Given the description of an element on the screen output the (x, y) to click on. 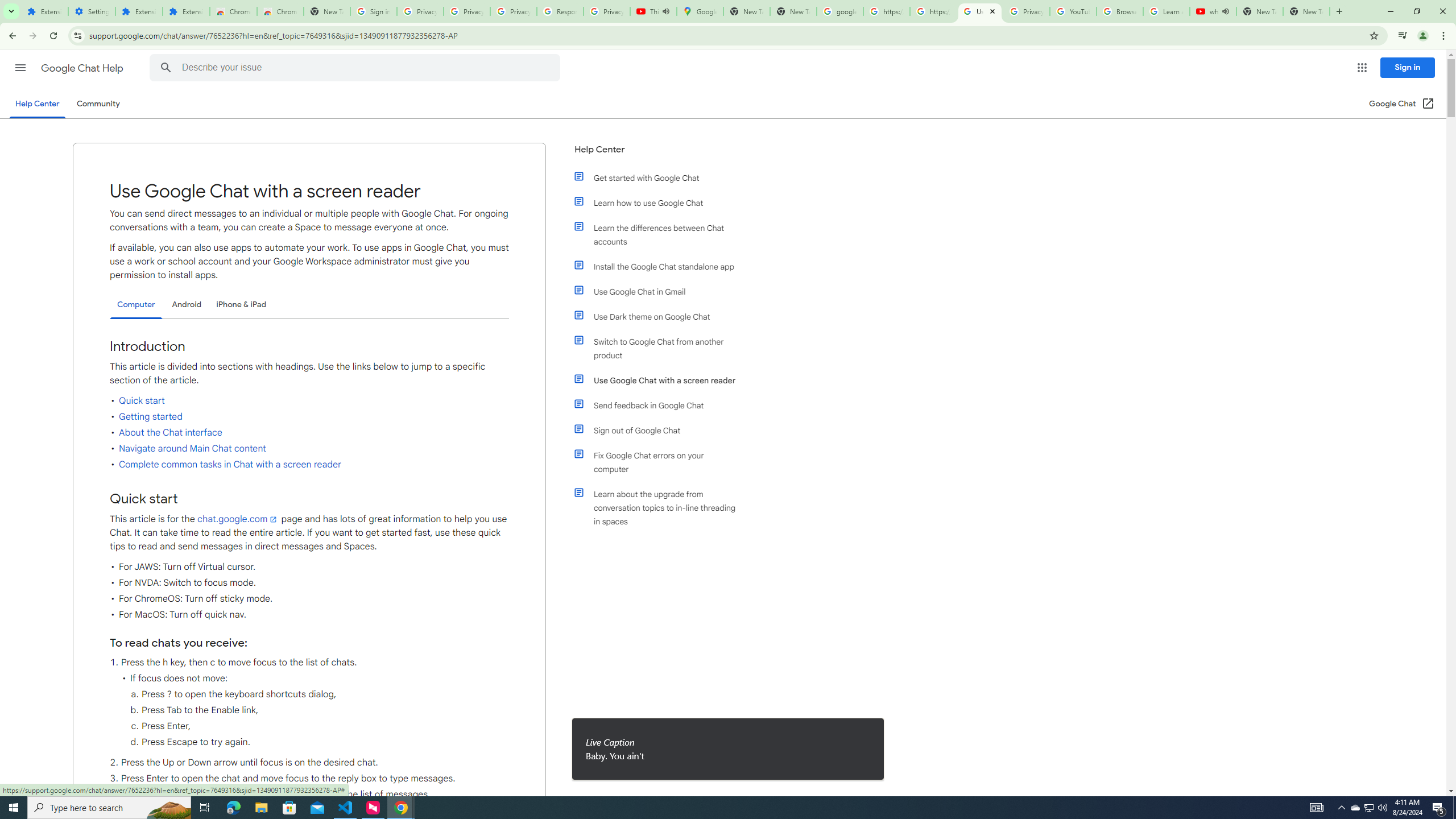
Learn how to use Google Chat (661, 202)
Switch to Google Chat from another product (661, 348)
Google Chat (Open in a new window) (1401, 103)
Google Chat Help (82, 68)
Sign in - Google Accounts (373, 11)
YouTube (1073, 11)
Use Google Chat in Gmail (661, 291)
Get started with Google Chat (661, 177)
Community (97, 103)
